Given the description of an element on the screen output the (x, y) to click on. 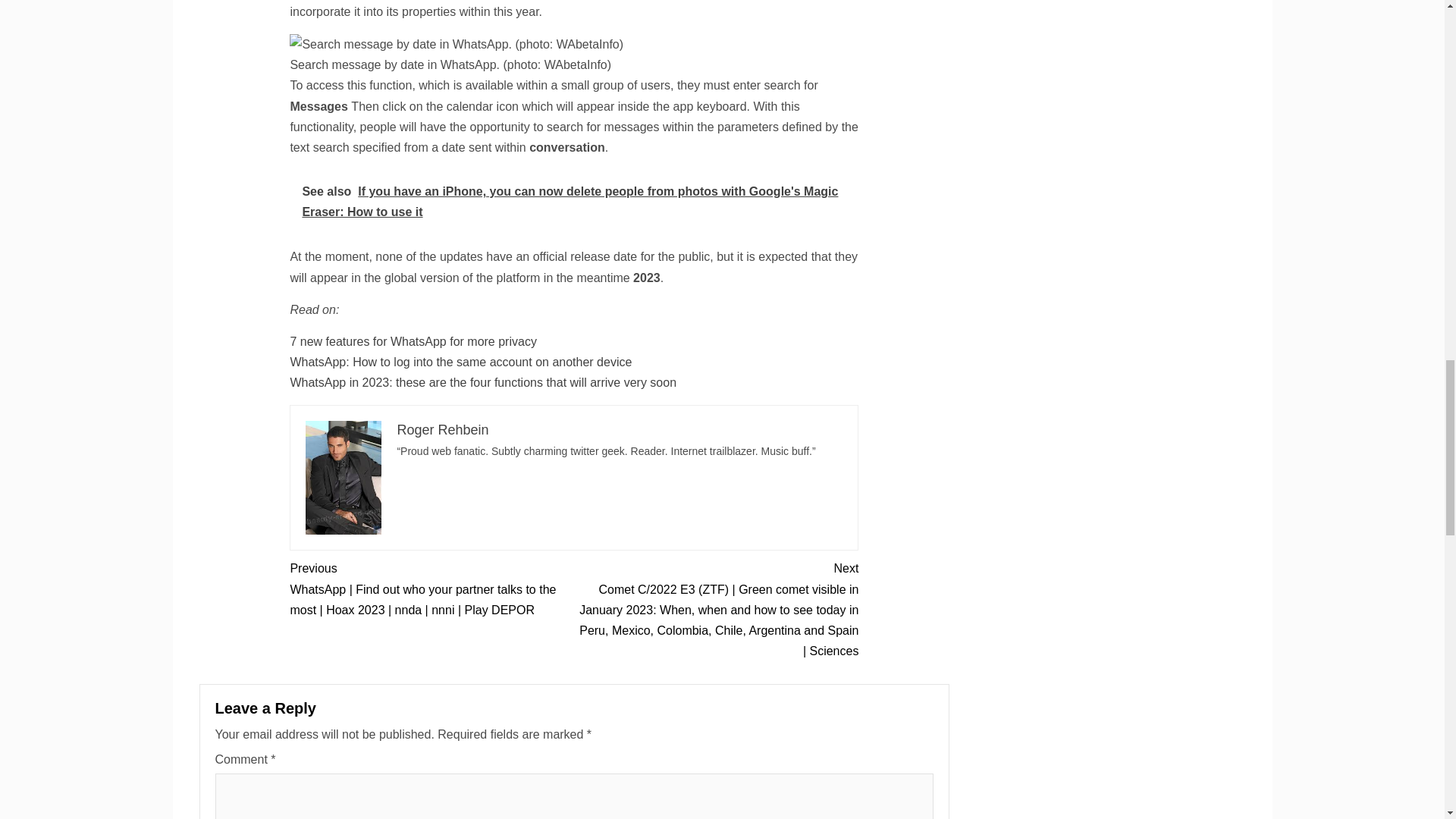
WhatsApp: How to log into the same account on another device (460, 361)
Roger Rehbein (441, 429)
7 new features for WhatsApp for more privacy (412, 341)
